Given the description of an element on the screen output the (x, y) to click on. 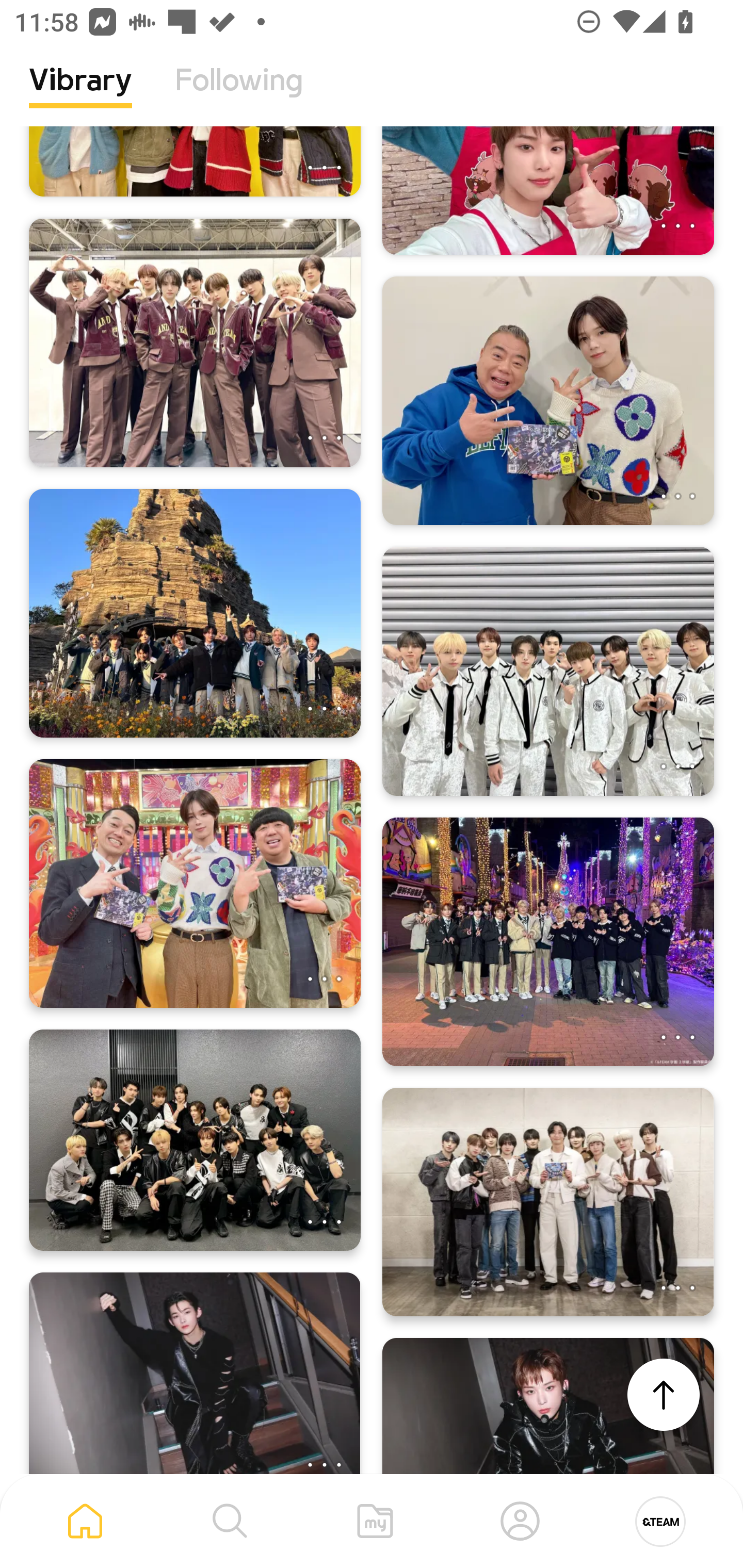
Vibrary (80, 95)
Following (239, 95)
